Given the description of an element on the screen output the (x, y) to click on. 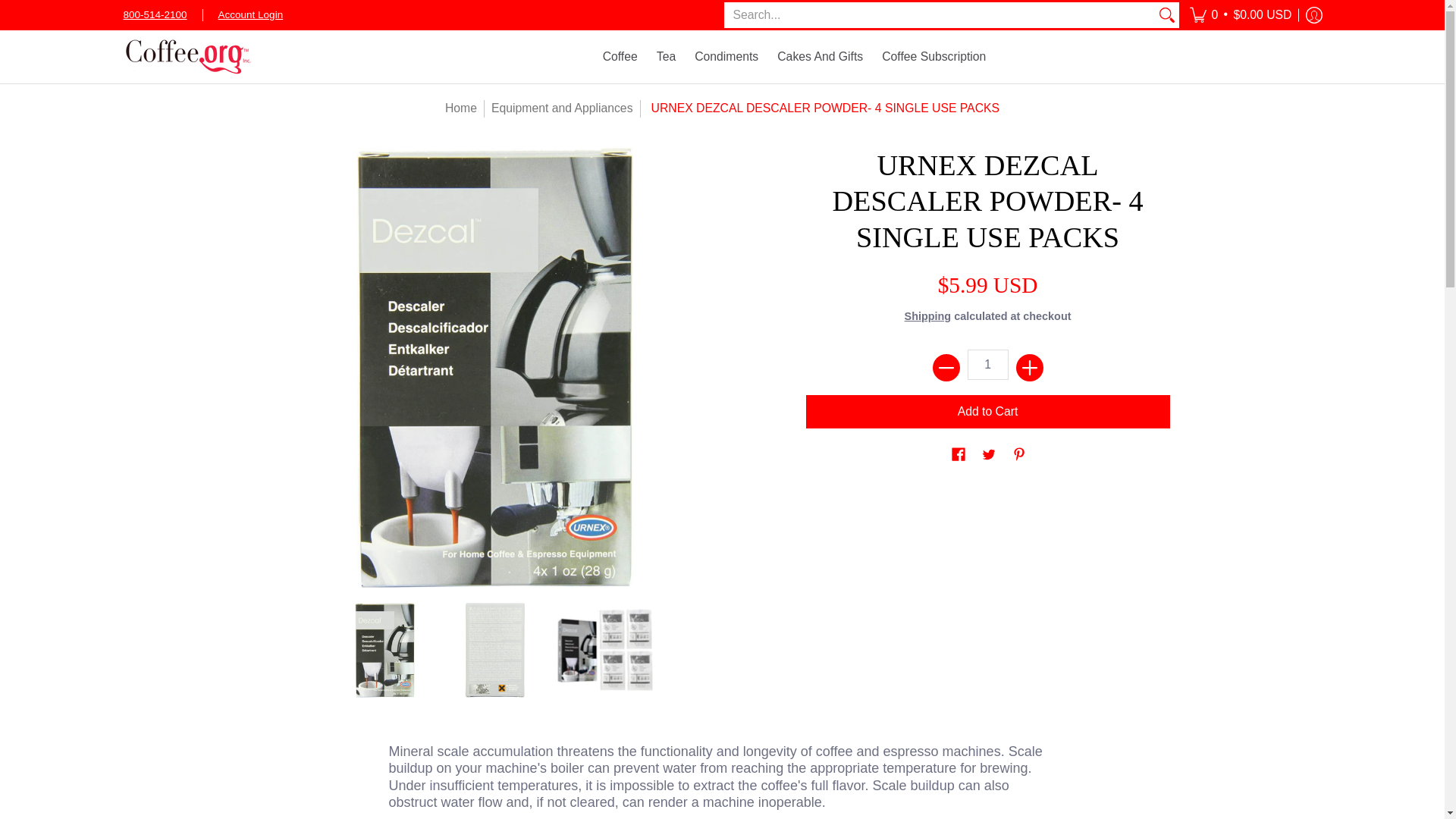
Condiments (726, 56)
tel:1-800-514-2100 (154, 14)
1 (988, 363)
Log in (1312, 15)
Account Login (250, 9)
Coffee (620, 56)
Cakes And Gifts (820, 56)
Coffee.org (186, 56)
Coffee (620, 56)
800-514-2100 (154, 14)
Cart (1240, 15)
